Given the description of an element on the screen output the (x, y) to click on. 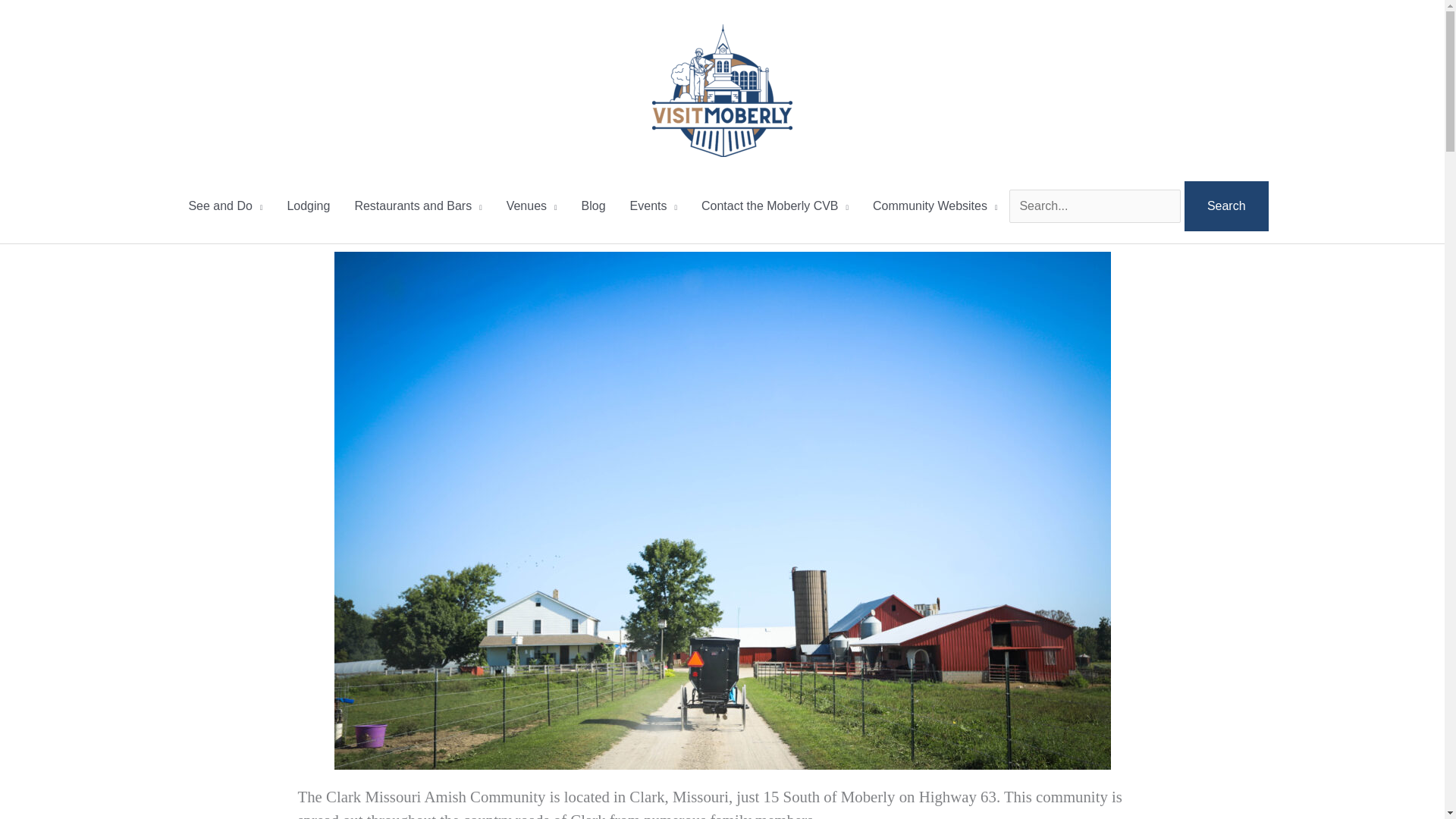
Search (1226, 205)
Lodging (308, 205)
Search (1226, 205)
Restaurants and Bars (417, 205)
Events (652, 205)
See and Do (225, 205)
Venues (532, 205)
Blog (593, 205)
